Given the description of an element on the screen output the (x, y) to click on. 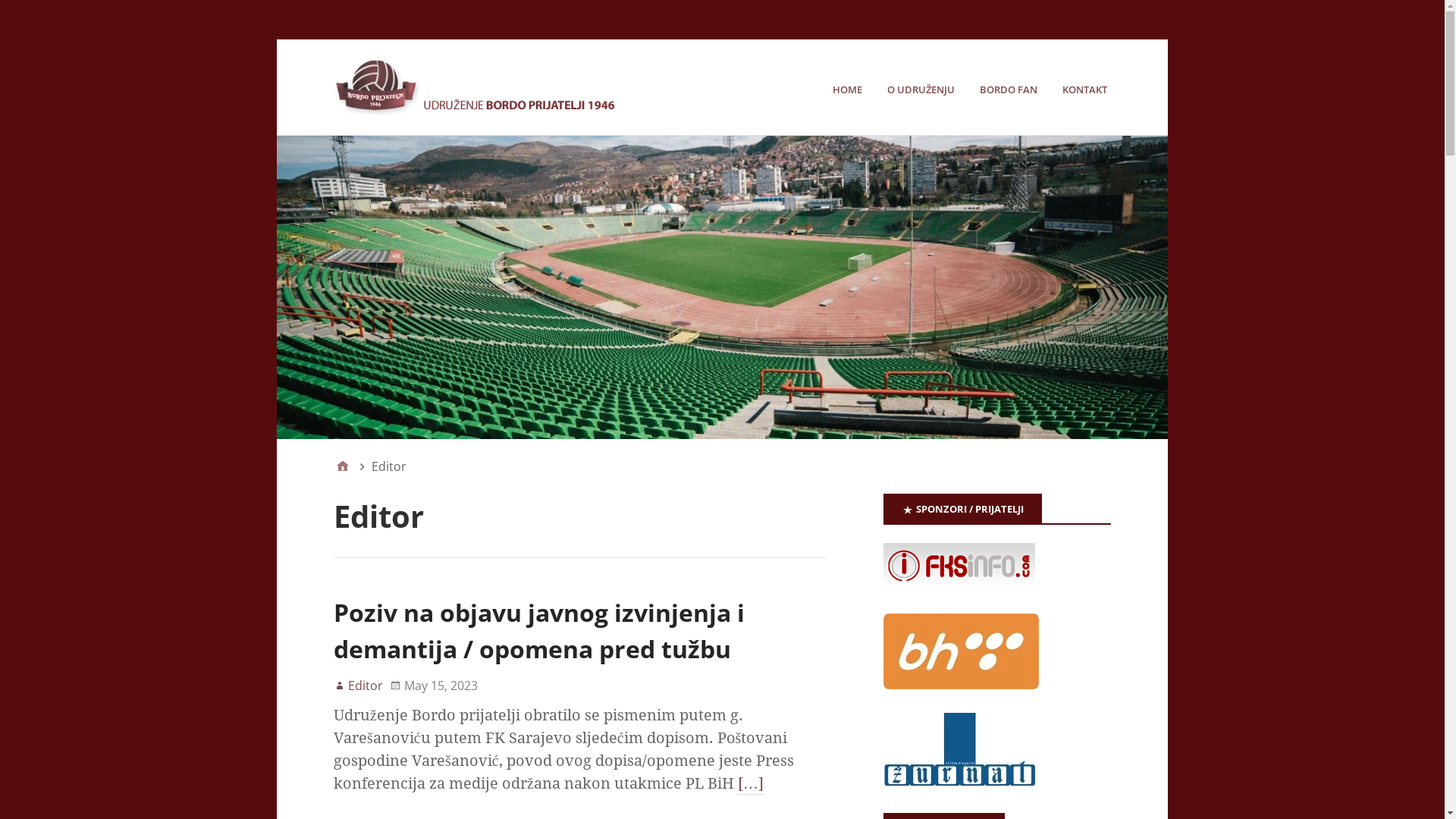
HOME Element type: text (849, 89)
KONTAKT Element type: text (1086, 89)
BP 1946 Element type: hover (721, 287)
Editor Element type: text (357, 685)
BORDO FAN Element type: text (1010, 89)
